Given the description of an element on the screen output the (x, y) to click on. 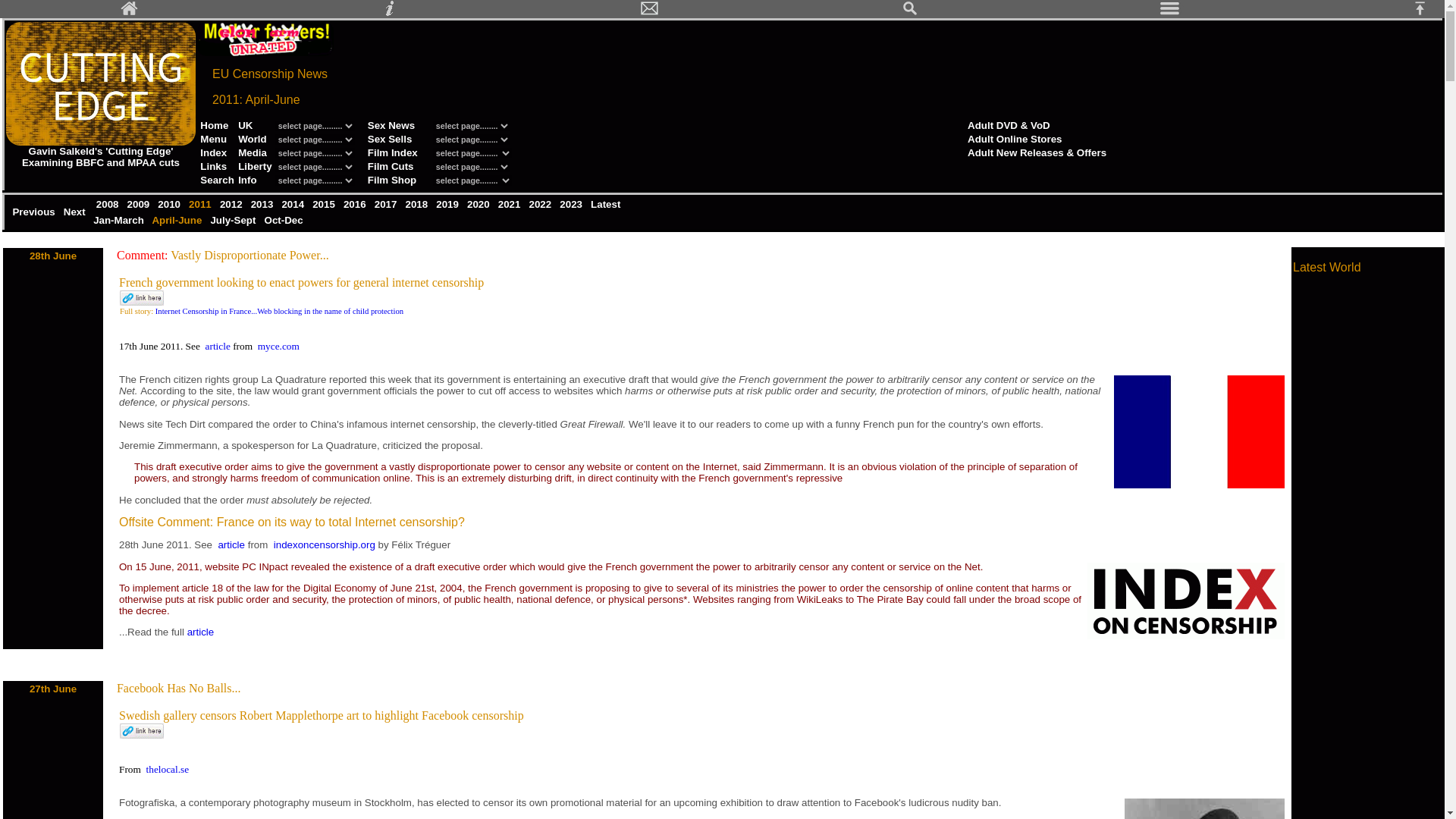
Search (216, 179)
Sex Sells (390, 138)
 2013  (263, 204)
 2014  (294, 204)
UK (244, 125)
Film Cuts (390, 165)
 2012  (231, 204)
 2008  (108, 204)
Sex News (391, 125)
Top of Page (1425, 12)
